Given the description of an element on the screen output the (x, y) to click on. 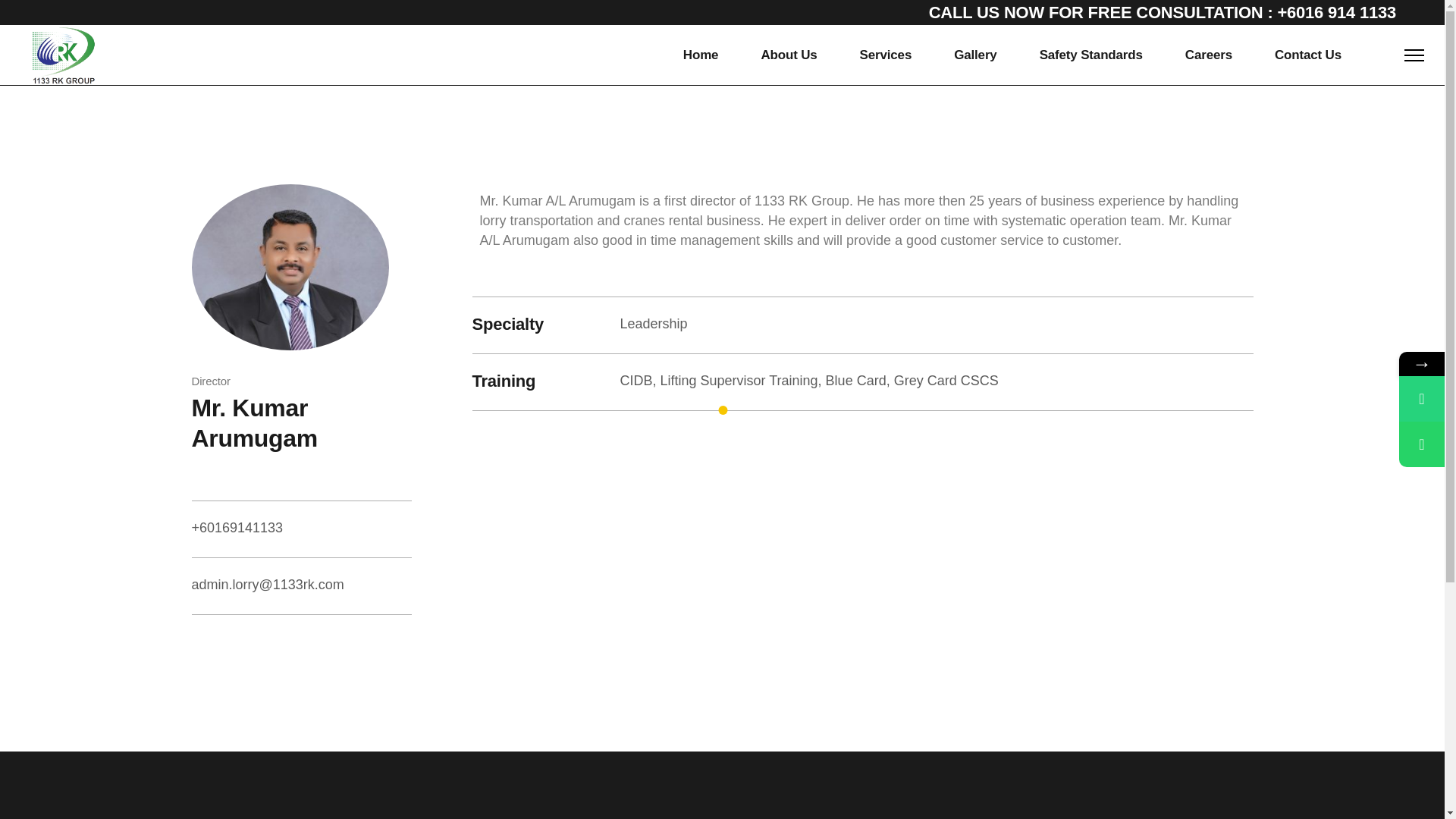
Gallery (974, 55)
Contact Us (1307, 55)
Safety Standards (1090, 55)
Home (700, 55)
Careers (1208, 55)
About Us (788, 55)
Mr. Kumar Arumugam (253, 422)
Services (886, 55)
